Given the description of an element on the screen output the (x, y) to click on. 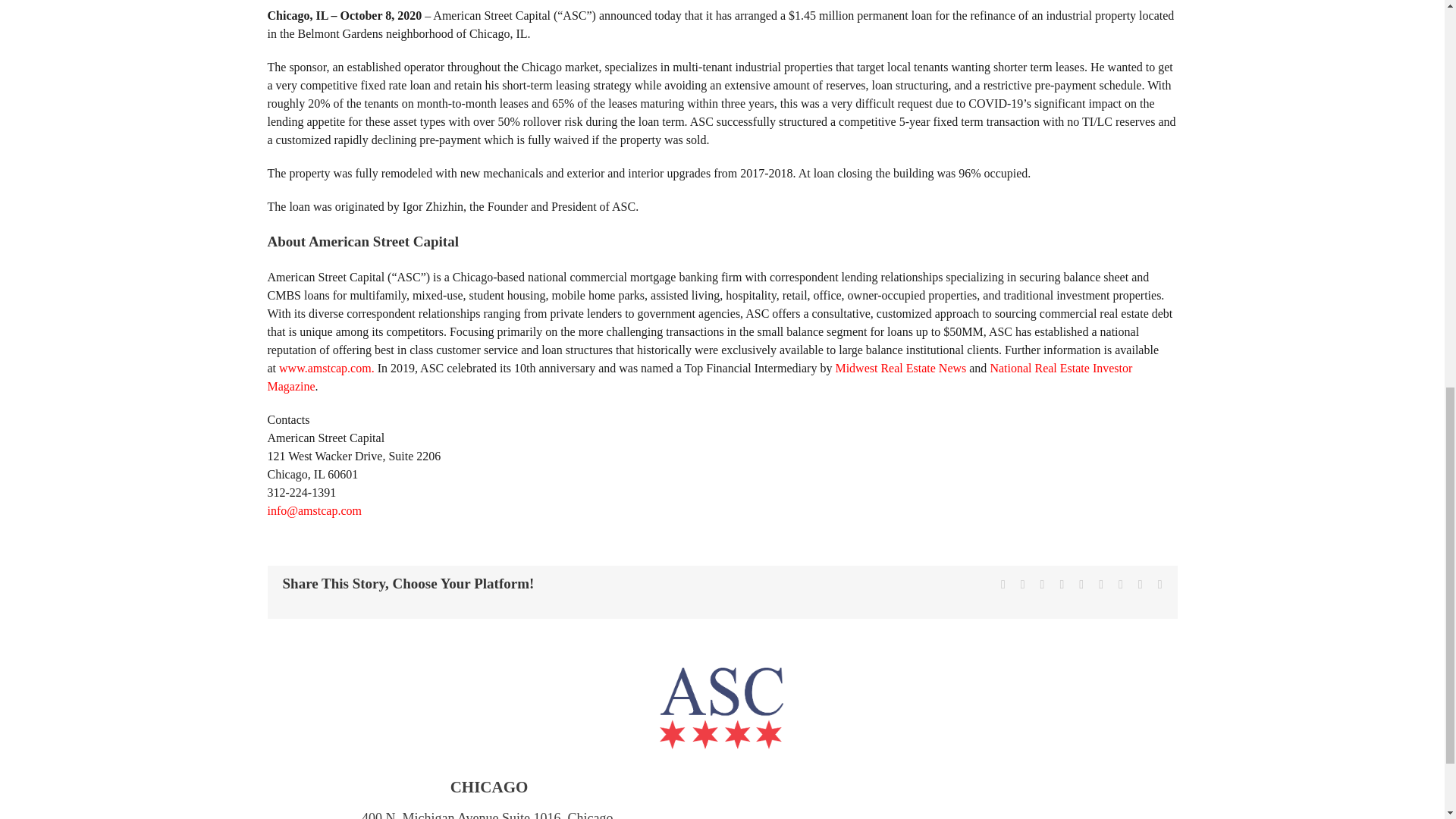
National Real Estate Investor Magazine (699, 377)
Midwest Real Estate News (900, 367)
www.amstcap.com (325, 367)
